Given the description of an element on the screen output the (x, y) to click on. 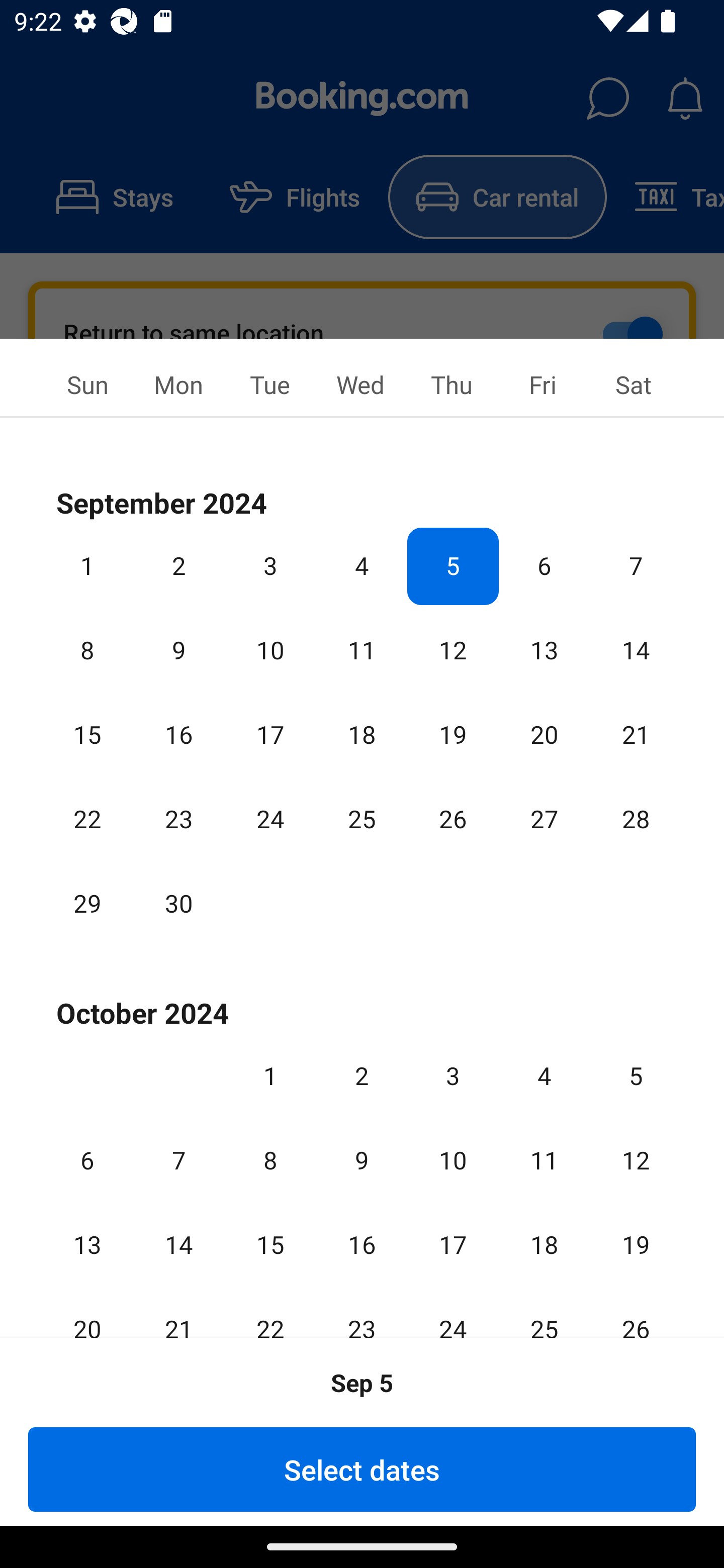
Select dates (361, 1468)
